Given the description of an element on the screen output the (x, y) to click on. 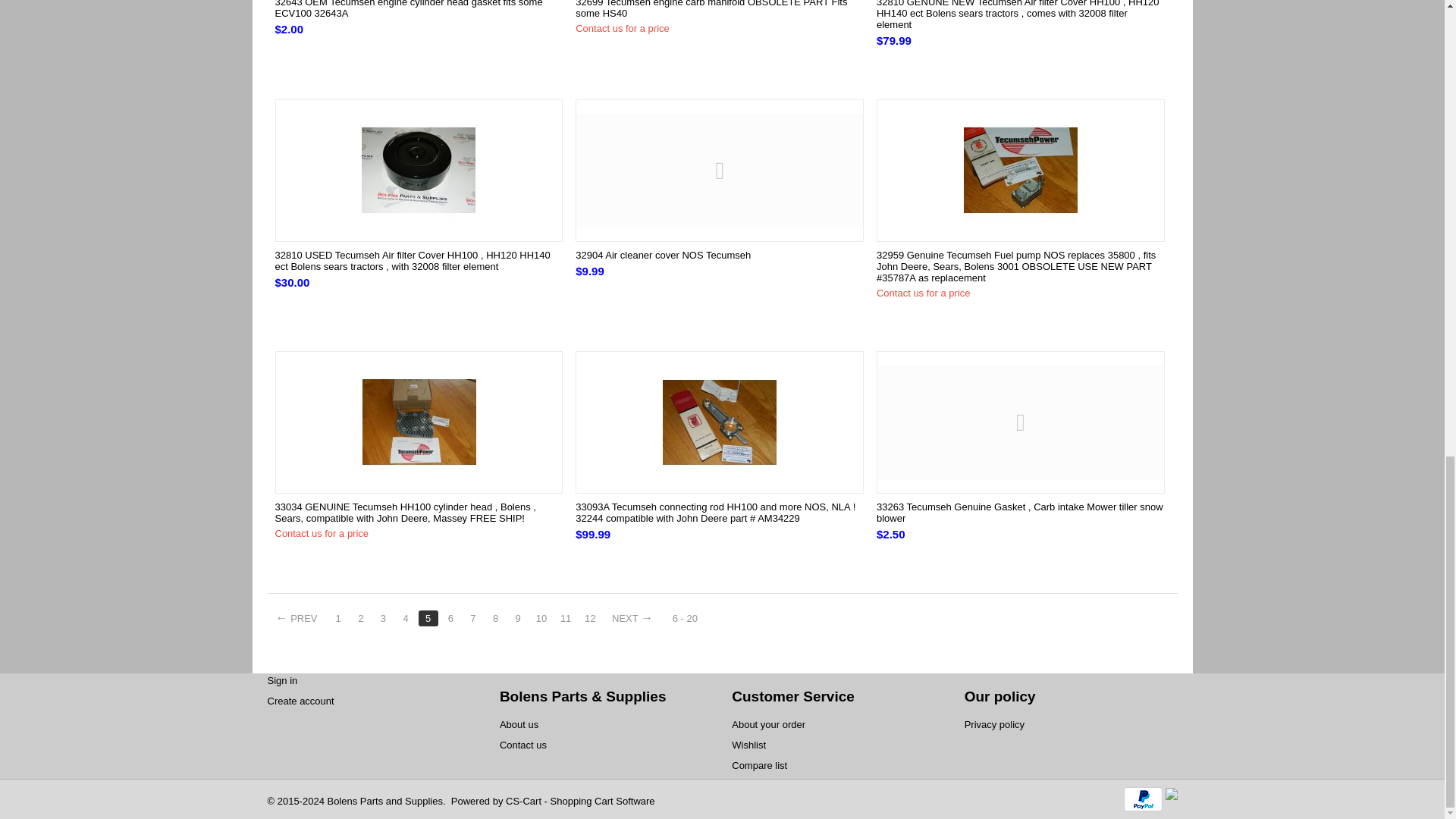
No image (719, 170)
